Given the description of an element on the screen output the (x, y) to click on. 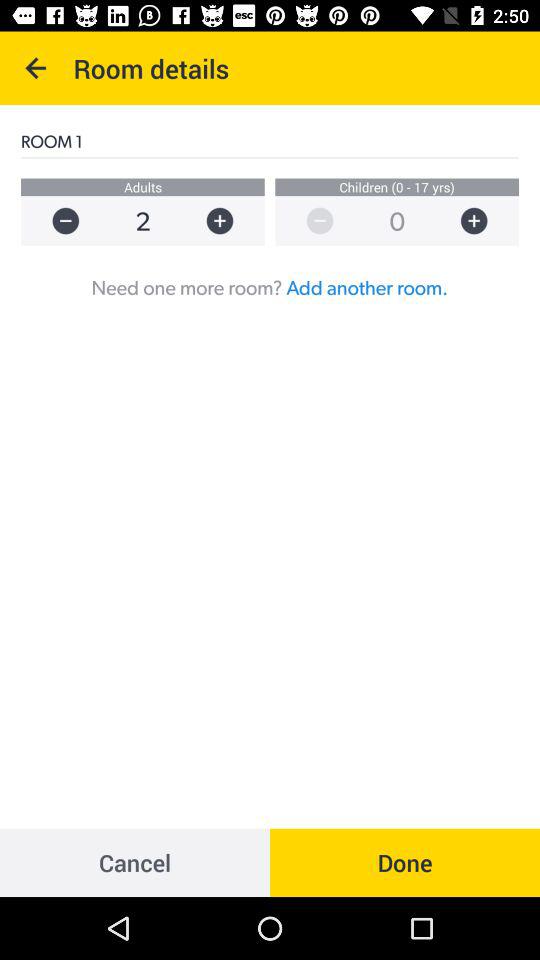
add more option (484, 220)
